Given the description of an element on the screen output the (x, y) to click on. 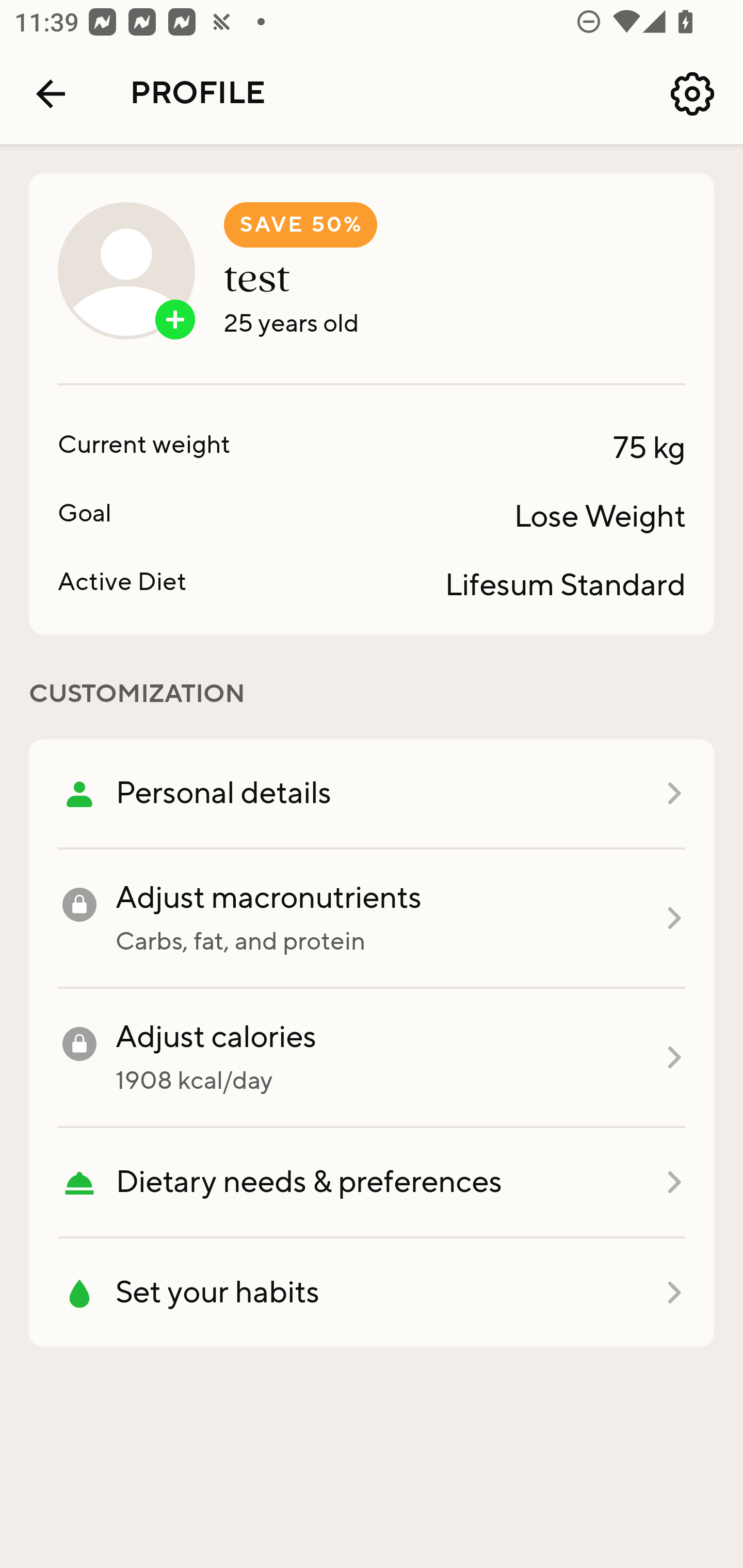
Back (50, 93)
settings (692, 93)
SAVE 50% (300, 224)
profile picture edit_background (125, 270)
Personal details (371, 793)
Adjust macronutrients Carbs, fat, and protein (371, 919)
Adjust calories 1908 kcal/day (371, 1058)
Dietary needs & preferences (371, 1182)
Set your habits (371, 1292)
